Given the description of an element on the screen output the (x, y) to click on. 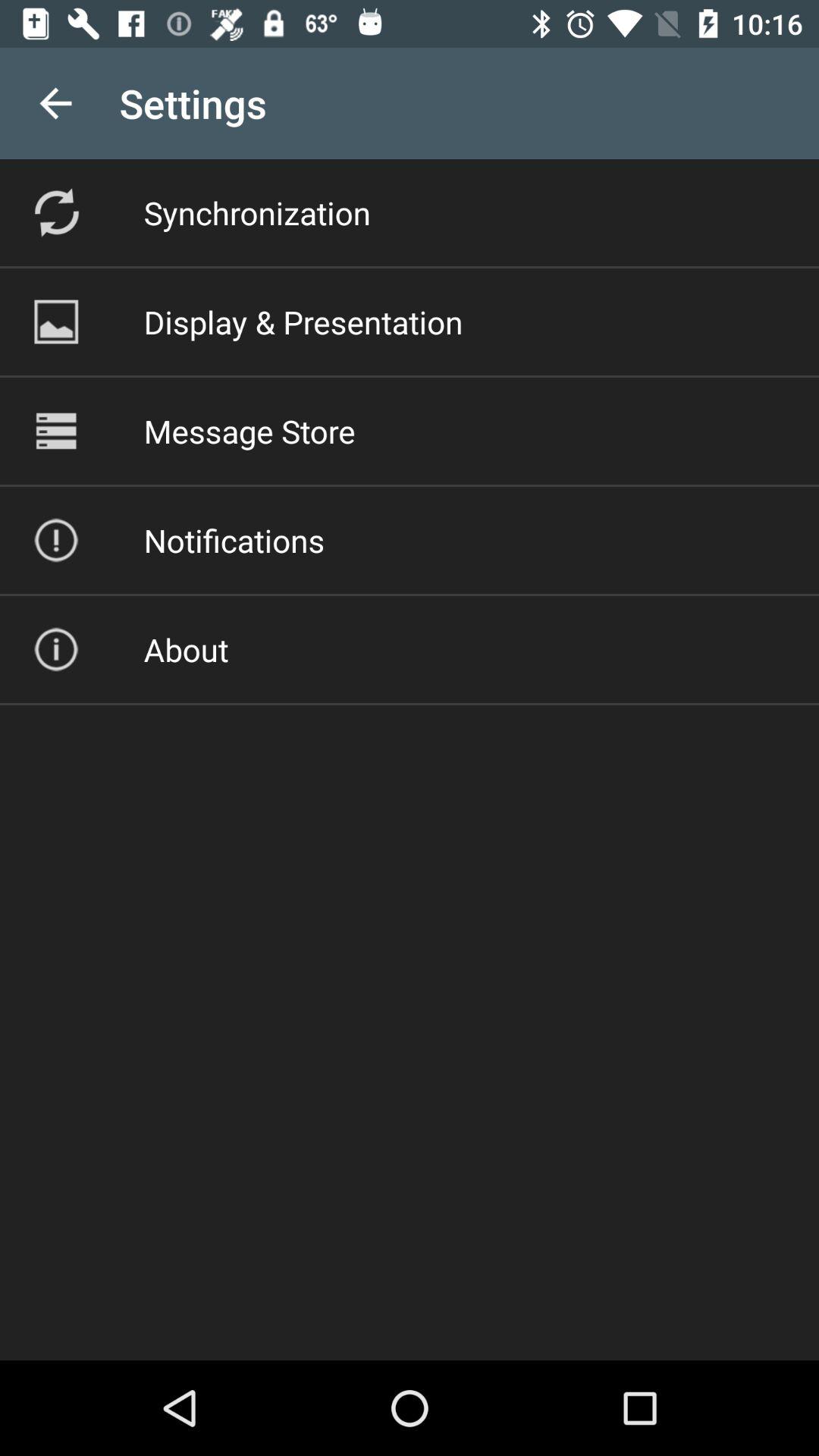
flip to the message store item (249, 430)
